Given the description of an element on the screen output the (x, y) to click on. 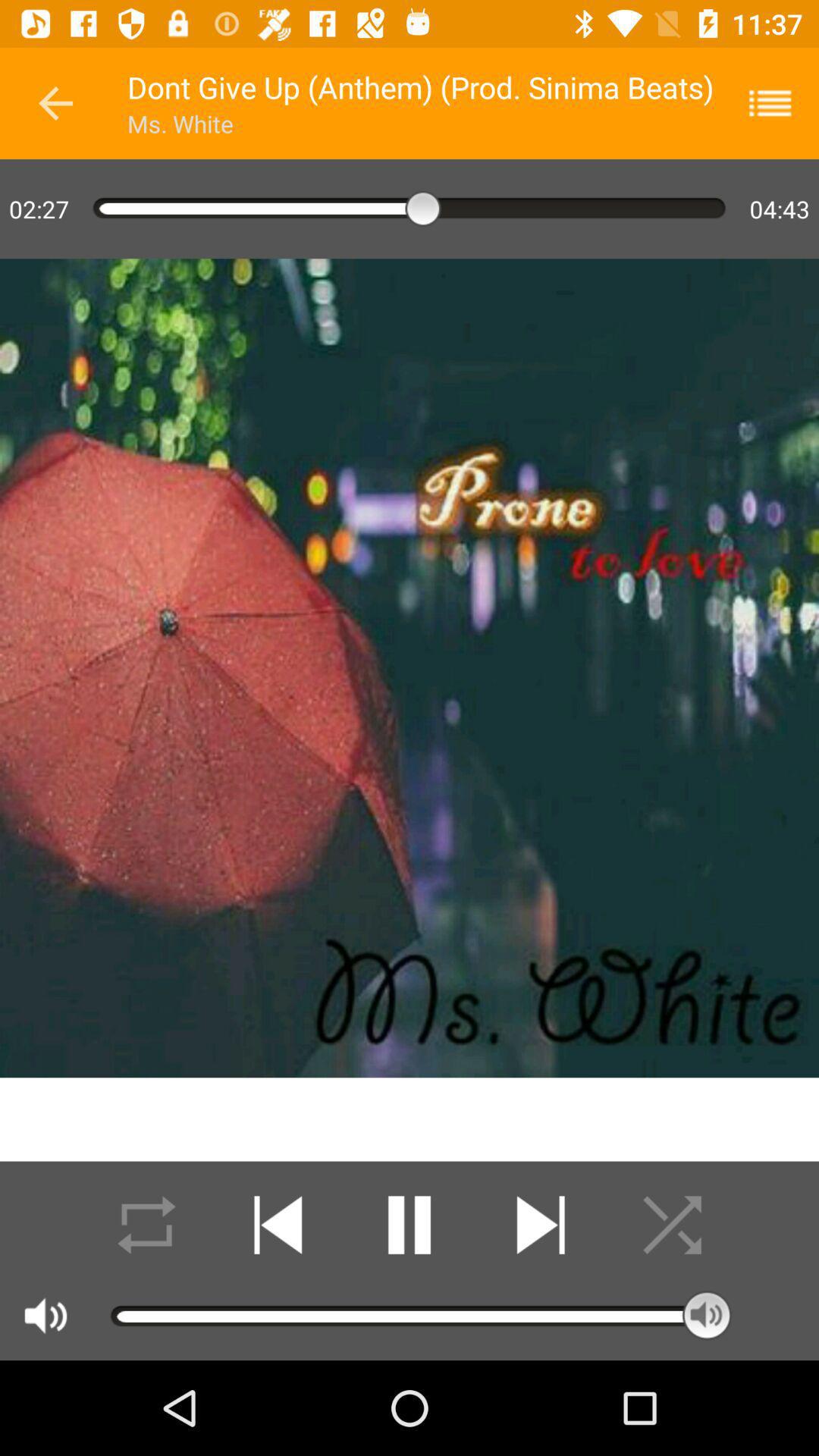
toggle repeat (146, 1224)
